Given the description of an element on the screen output the (x, y) to click on. 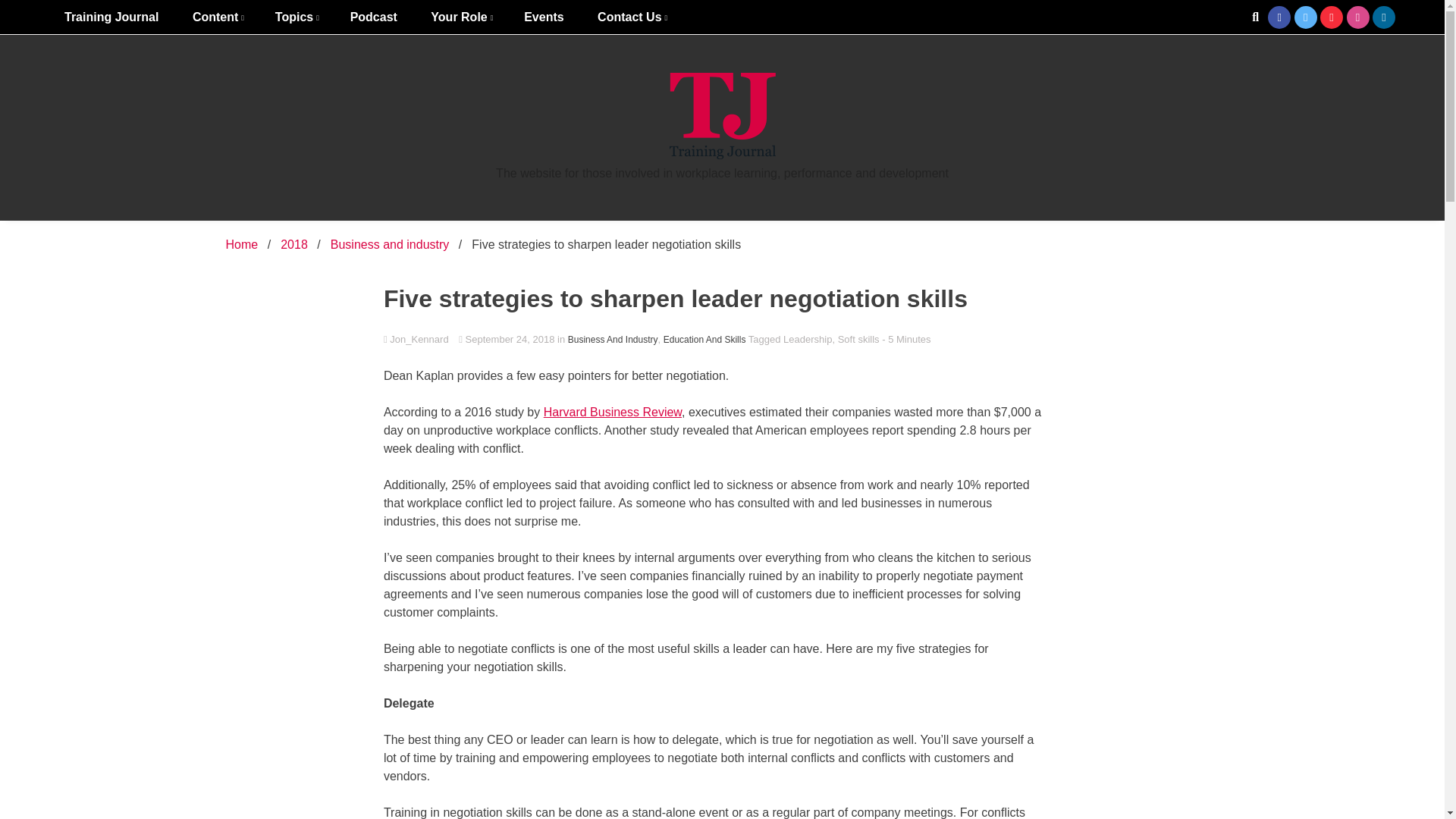
Podcast (373, 17)
Training Journal (111, 17)
Your Role (459, 17)
Events (543, 17)
Topics (295, 17)
Content (216, 17)
Estimated Reading Time of Article (906, 338)
